Given the description of an element on the screen output the (x, y) to click on. 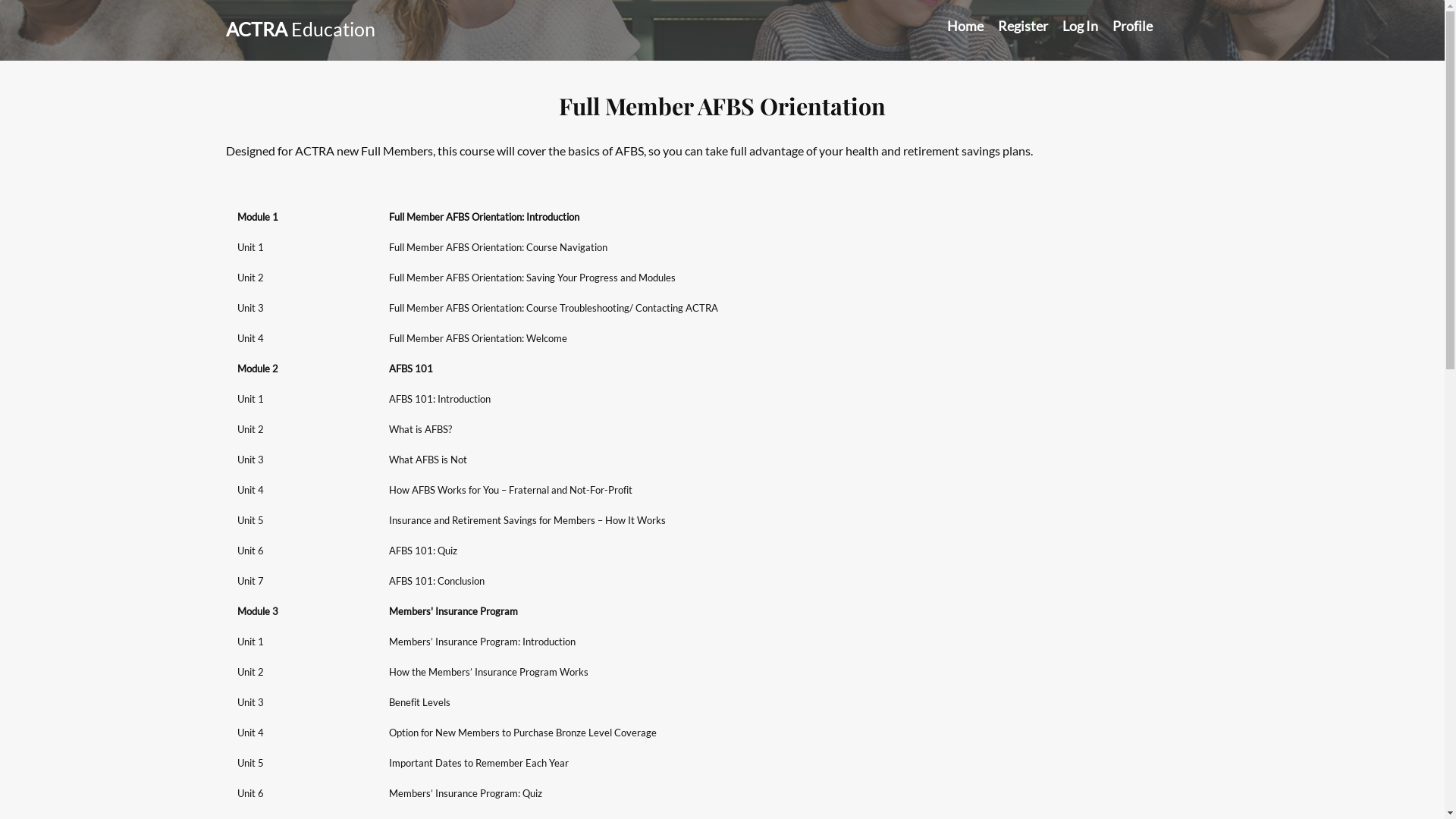
ACTRA Education Element type: text (300, 28)
Home Element type: text (964, 26)
Register Element type: text (1022, 26)
Profile Element type: text (1131, 26)
Log In Element type: text (1079, 26)
